Given the description of an element on the screen output the (x, y) to click on. 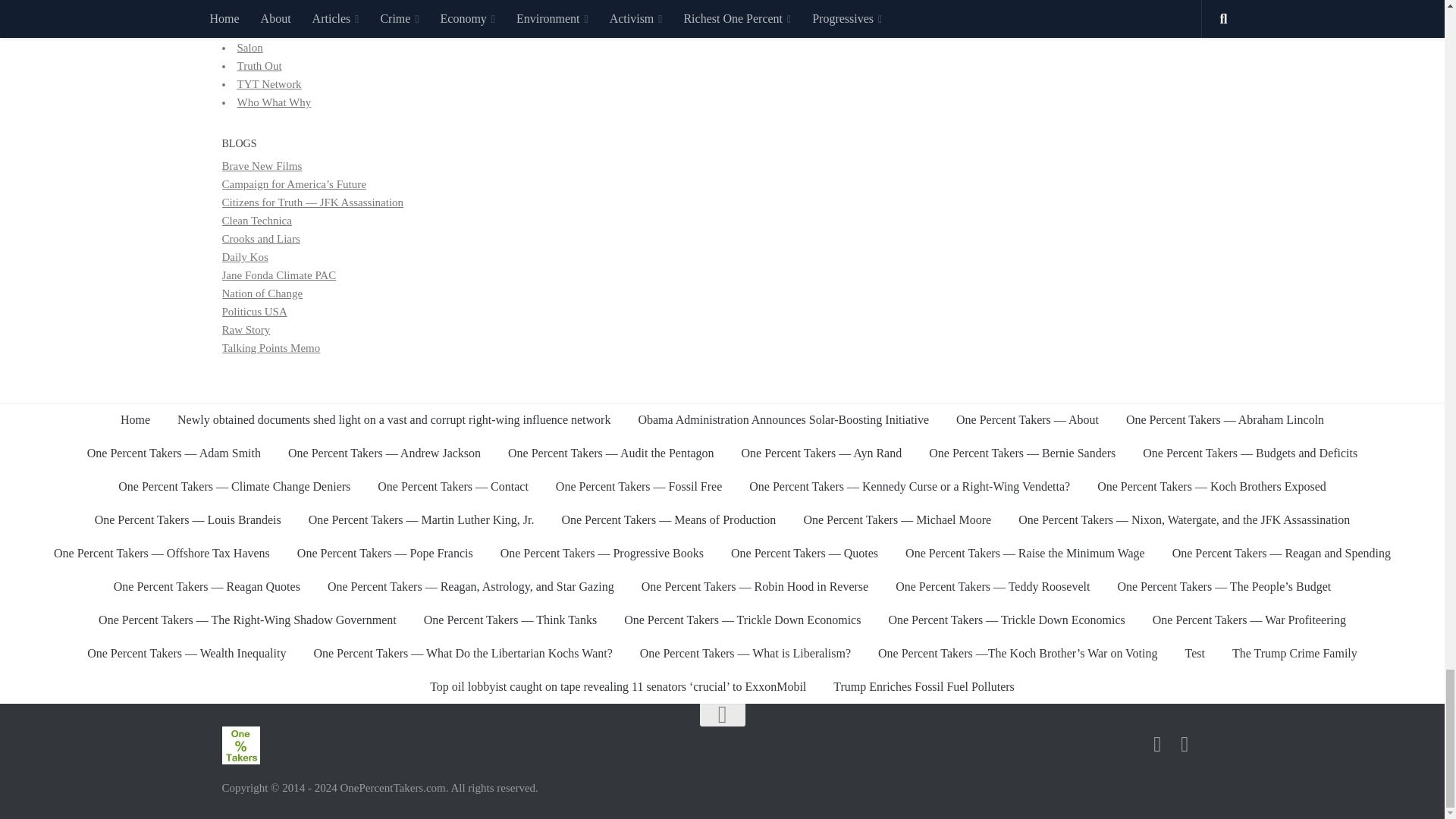
Subscribe to This Page (1157, 744)
